Given the description of an element on the screen output the (x, y) to click on. 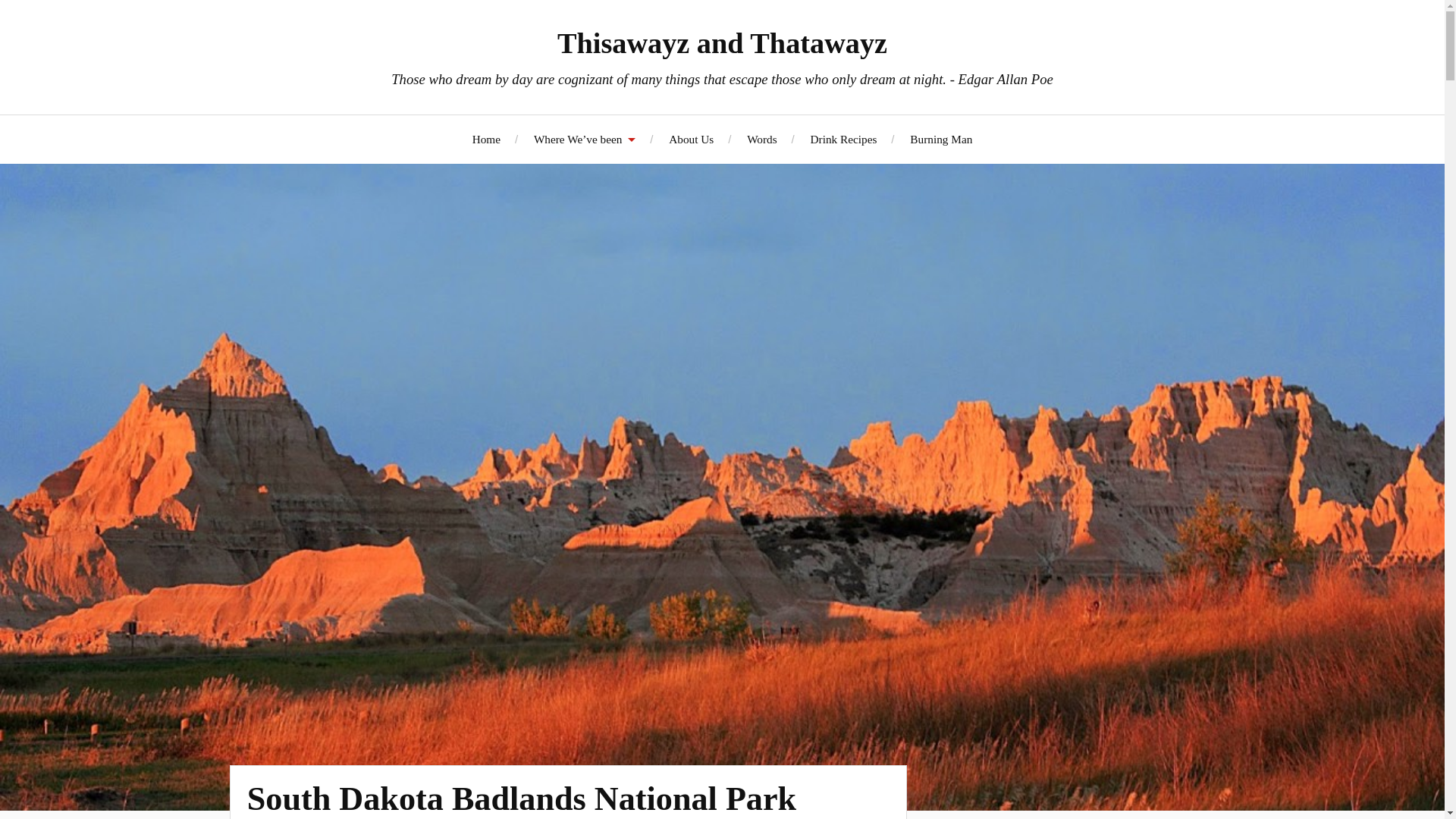
Thisawayz and Thatawayz (721, 42)
About Us (690, 138)
Drink Recipes (843, 138)
